Given the description of an element on the screen output the (x, y) to click on. 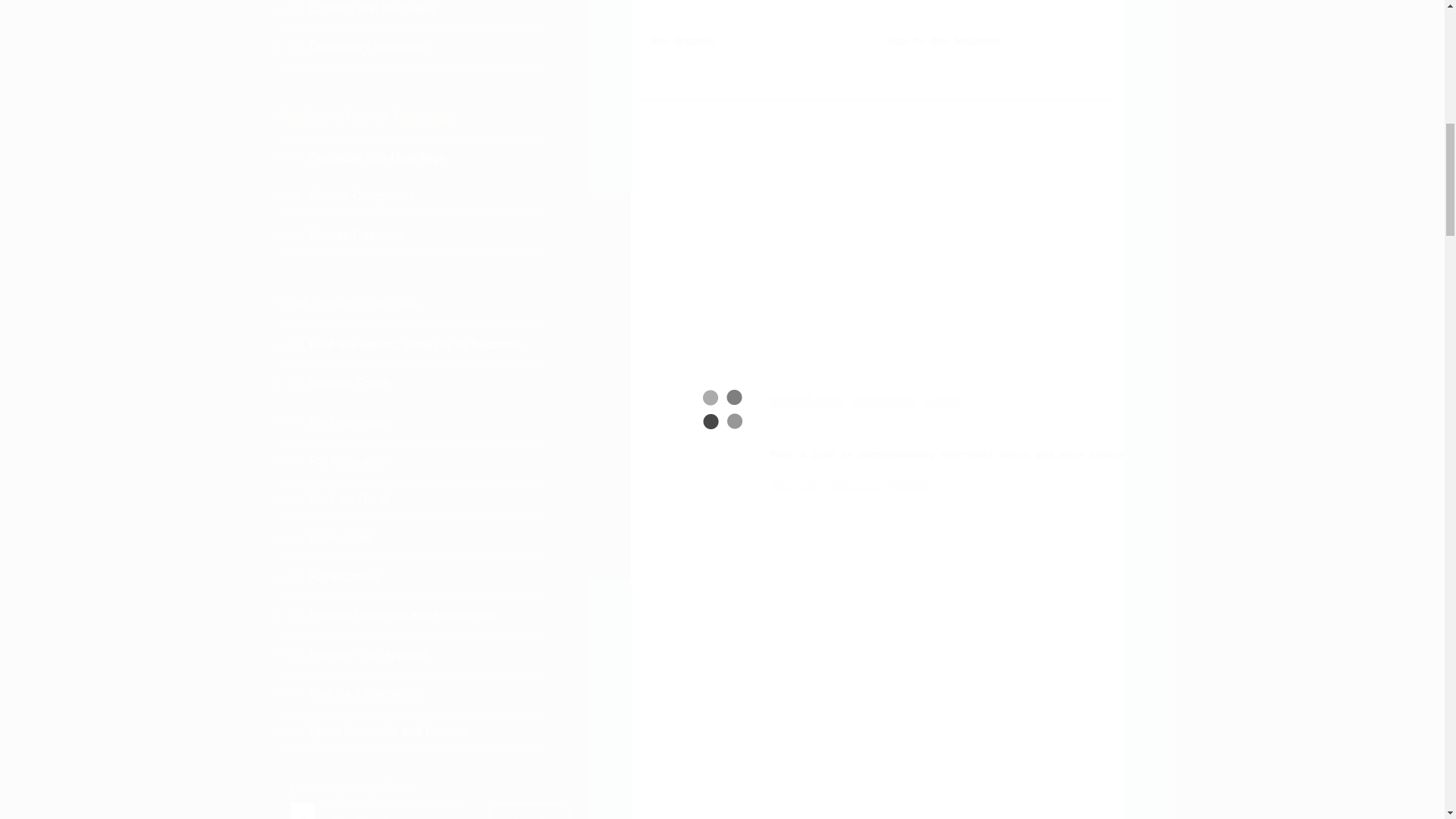
Search (529, 811)
